Given the description of an element on the screen output the (x, y) to click on. 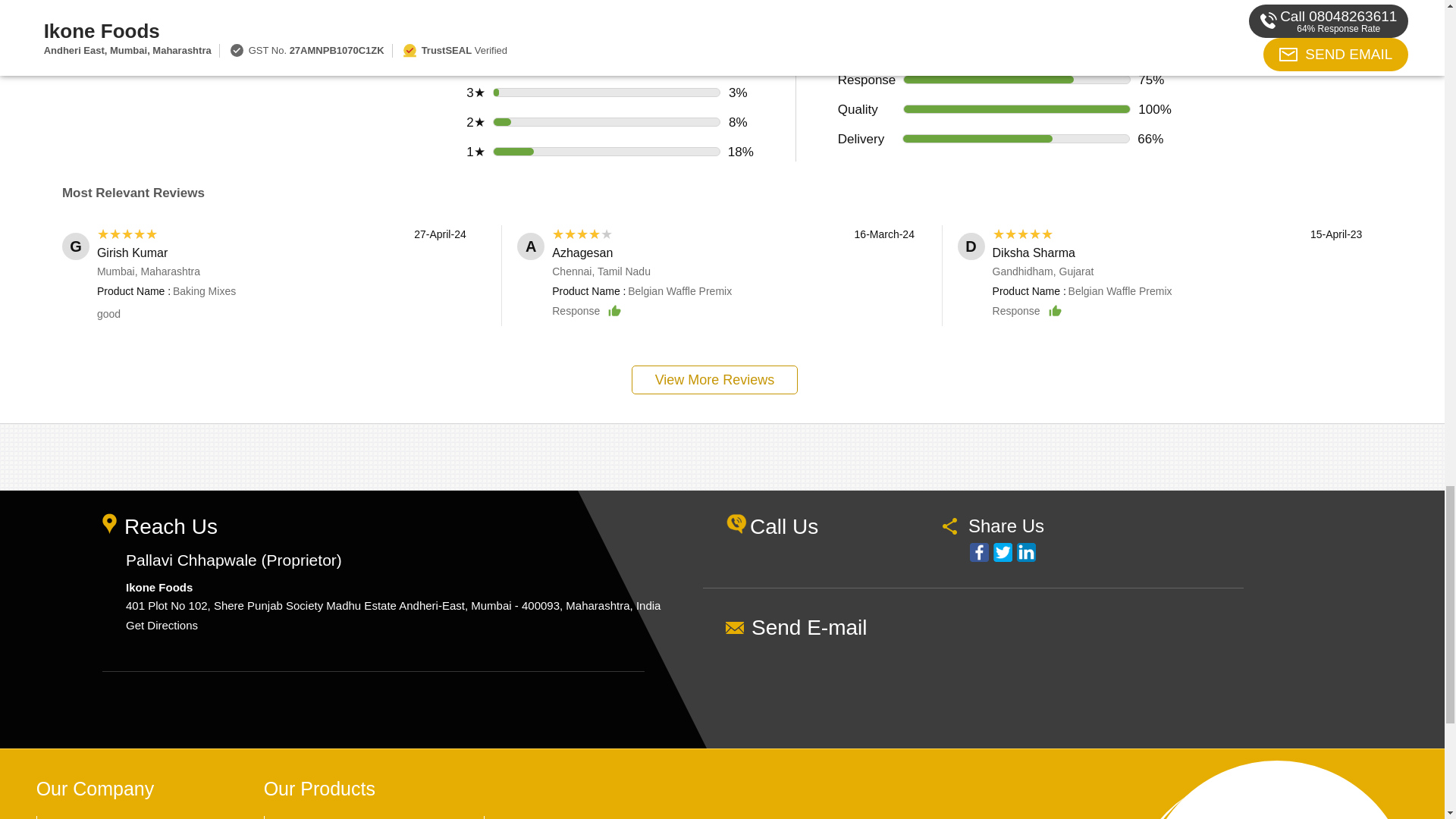
View More Reviews (714, 379)
Twitter (1001, 551)
Get Directions (161, 625)
LinkedIn (1025, 551)
Facebook (978, 551)
Our Products (319, 788)
